Given the description of an element on the screen output the (x, y) to click on. 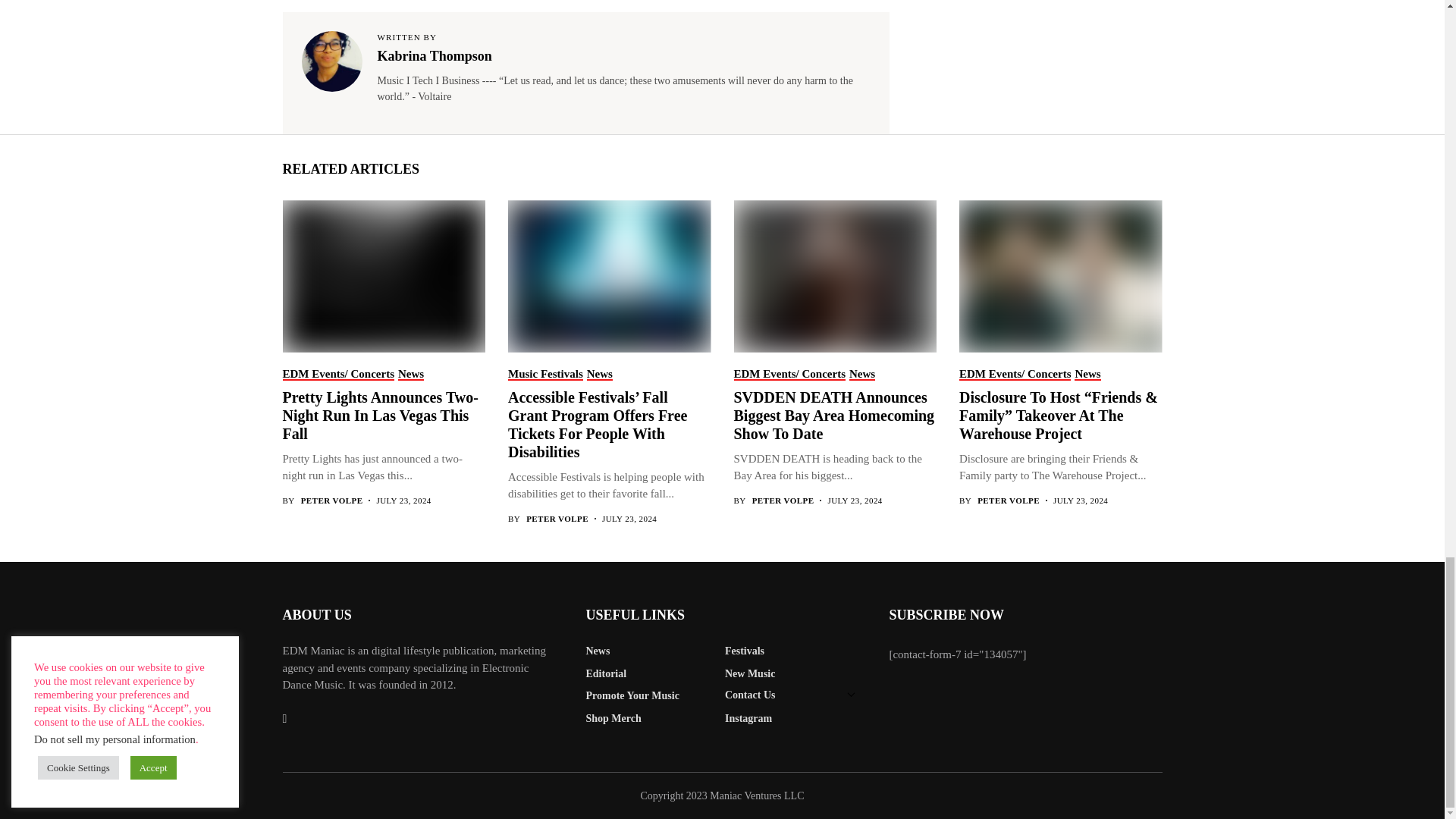
Posts by Peter Volpe (1007, 501)
Posts by Peter Volpe (782, 501)
Posts by Peter Volpe (331, 501)
Posts by Peter Volpe (556, 519)
